Given the description of an element on the screen output the (x, y) to click on. 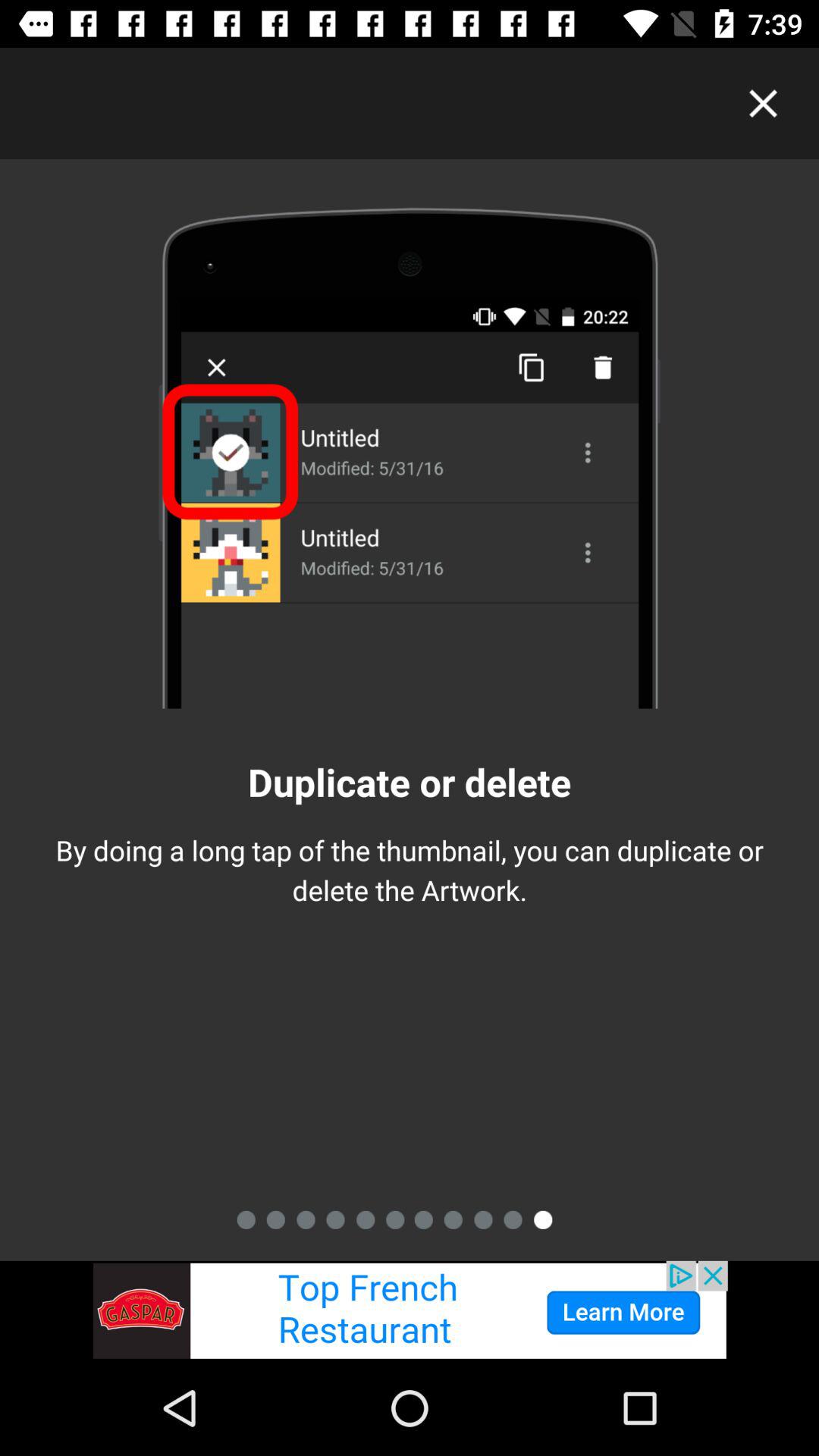
exit current screen (763, 103)
